Given the description of an element on the screen output the (x, y) to click on. 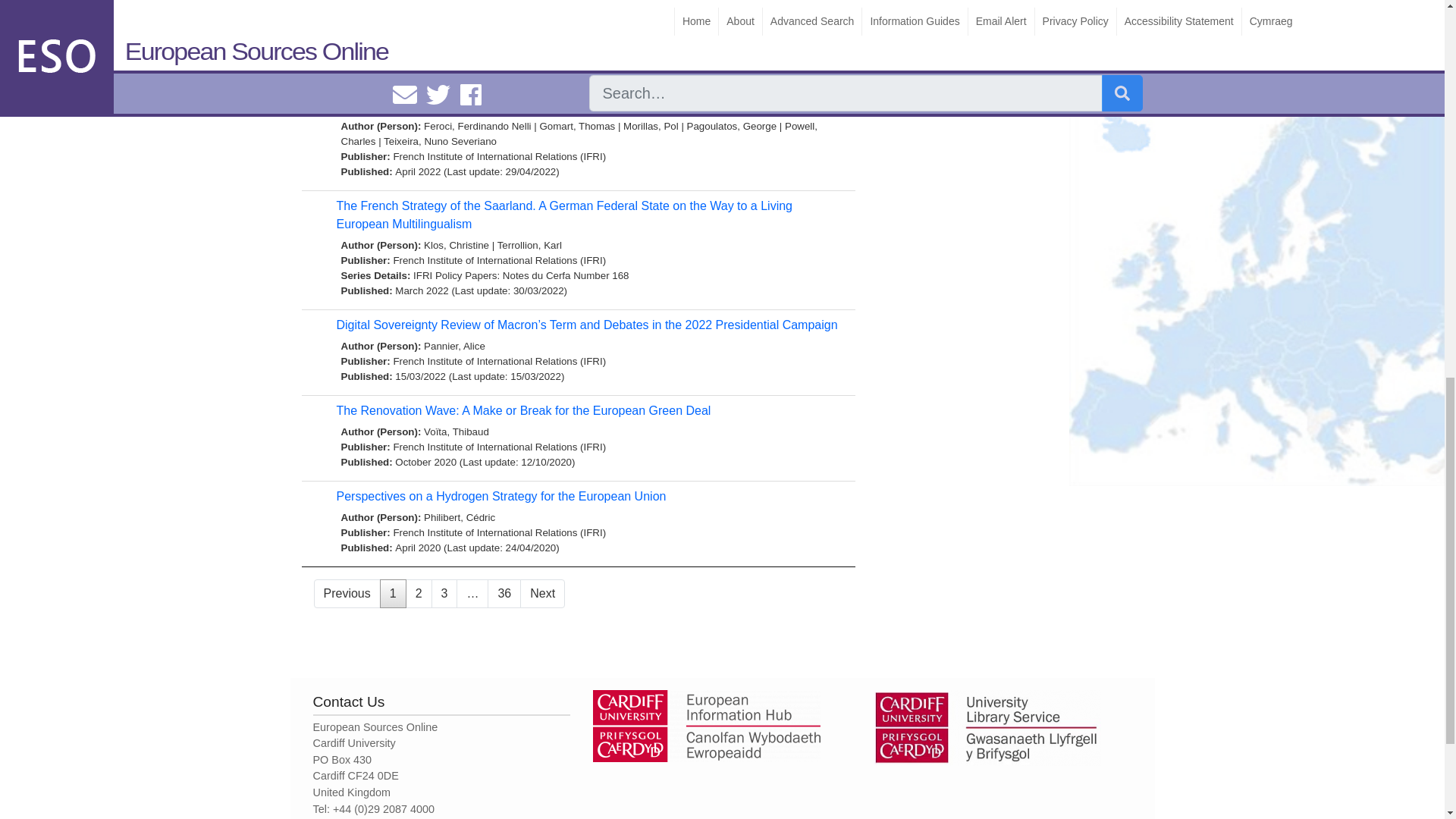
IFRI Policy Papers: Russie.Nei.Visions (654, 37)
IFRI Policy Papers: Notes de l'Ifri (486, 37)
Minic, Dimitri (452, 7)
